Given the description of an element on the screen output the (x, y) to click on. 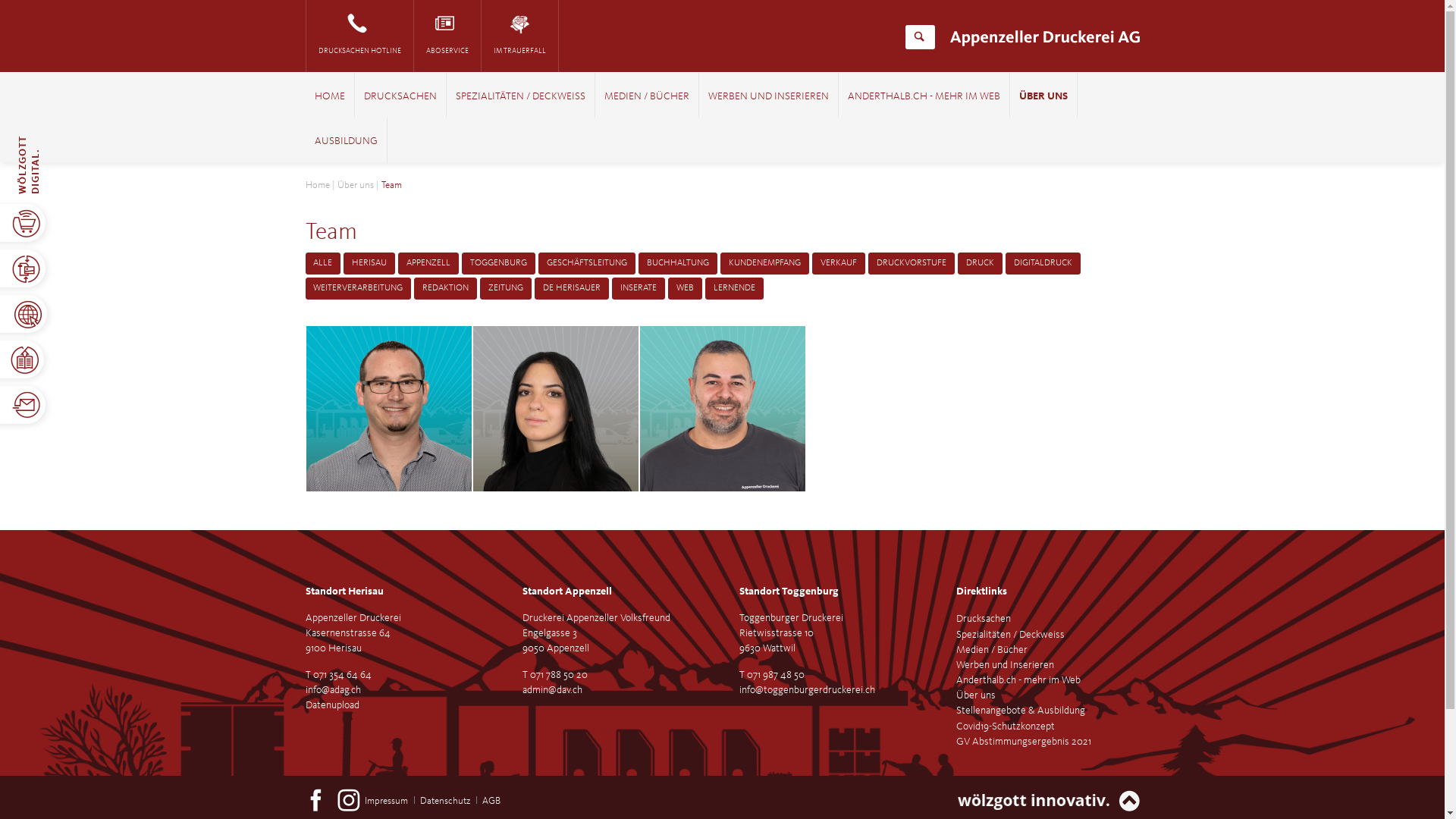
INSERATE Element type: text (638, 288)
WERBEN UND INSERIEREN Element type: text (768, 96)
DRUCKSACHEN HOTLINE Element type: text (359, 36)
admin@dav.ch Element type: text (551, 689)
AGB Element type: text (491, 801)
DRUCKSACHEN Element type: text (400, 96)
Suchen Element type: text (919, 37)
TOGGENBURG Element type: text (498, 263)
Standort Toggenburg Element type: text (787, 591)
ANDERTHALB.CH - MEHR IM WEB Element type: text (923, 96)
  Element type: text (955, 748)
APPENZELL Element type: text (428, 263)
Standort Herisau Element type: text (343, 591)
BUCHHALTUNG Element type: text (677, 263)
WEITERVERARBEITUNG Element type: text (357, 288)
Standort Appenzell Element type: text (566, 591)
Anderthalb.ch - mehr im Web Element type: text (1017, 679)
Werben und Inserieren Element type: text (1004, 664)
ZEITUNG Element type: text (505, 288)
  Element type: text (499, 793)
ALLE Element type: text (322, 263)
info@adag.ch Element type: text (332, 689)
Impressum Element type: text (385, 801)
info@toggenburgerdruckerei.ch Element type: text (806, 689)
DRUCK Element type: text (979, 263)
AUSBILDUNG Element type: text (344, 141)
GV Abstimmungsergebnis 2021 Element type: text (1022, 741)
DIGITALDRUCK Element type: text (1042, 263)
REDAKTION Element type: text (445, 288)
Drucksachen Element type: text (982, 618)
IM TRAUERFALL Element type: text (518, 36)
KUNDENEMPFANG Element type: text (764, 263)
Stellenangebote & Ausbildung Element type: text (1019, 710)
Datenschutz Element type: text (445, 801)
HERISAU Element type: text (369, 263)
Covid19-Schutzkonzept Element type: text (1004, 726)
WEB Element type: text (685, 288)
VERKAUF Element type: text (838, 263)
Datenupload Element type: text (331, 704)
DRUCKVORSTUFE Element type: text (911, 263)
HOME Element type: text (328, 96)
ABOSERVICE Element type: text (447, 36)
DE HERISAUER Element type: text (571, 288)
Home Element type: text (316, 185)
LERNENDE Element type: text (734, 288)
